Given the description of an element on the screen output the (x, y) to click on. 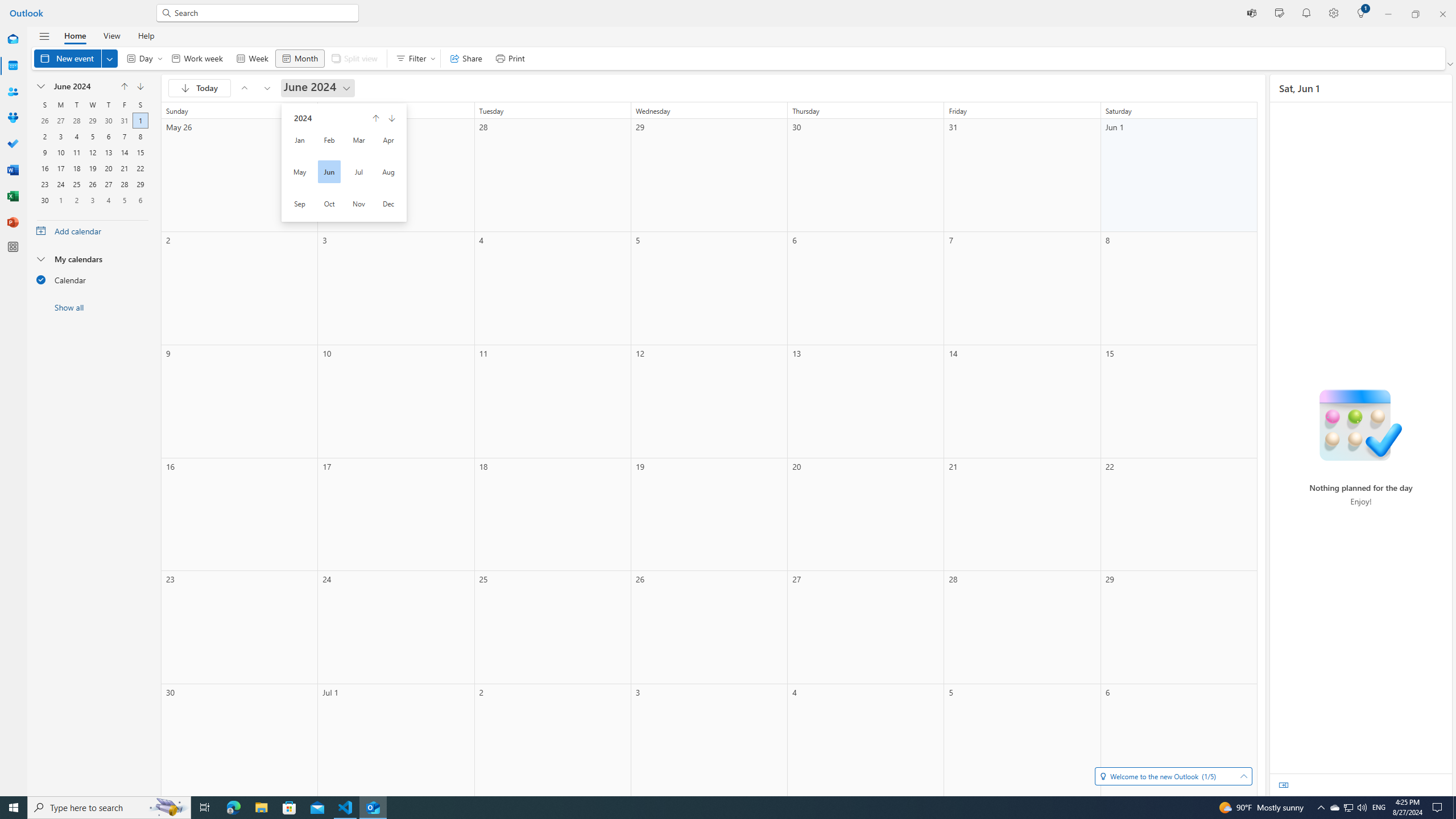
Saturday (140, 104)
21, June, 2024 (124, 167)
13, June, 2024 (108, 151)
Split view (354, 58)
2, July, 2024 (76, 198)
Calendar (12, 65)
10, June, 2024 (60, 151)
Class: weekRow-466 (92, 198)
1, June, 2024 (140, 119)
Work week (197, 58)
1, July, 2024 (60, 198)
26, May, 2024 (44, 119)
June 2024 (318, 88)
